Given the description of an element on the screen output the (x, y) to click on. 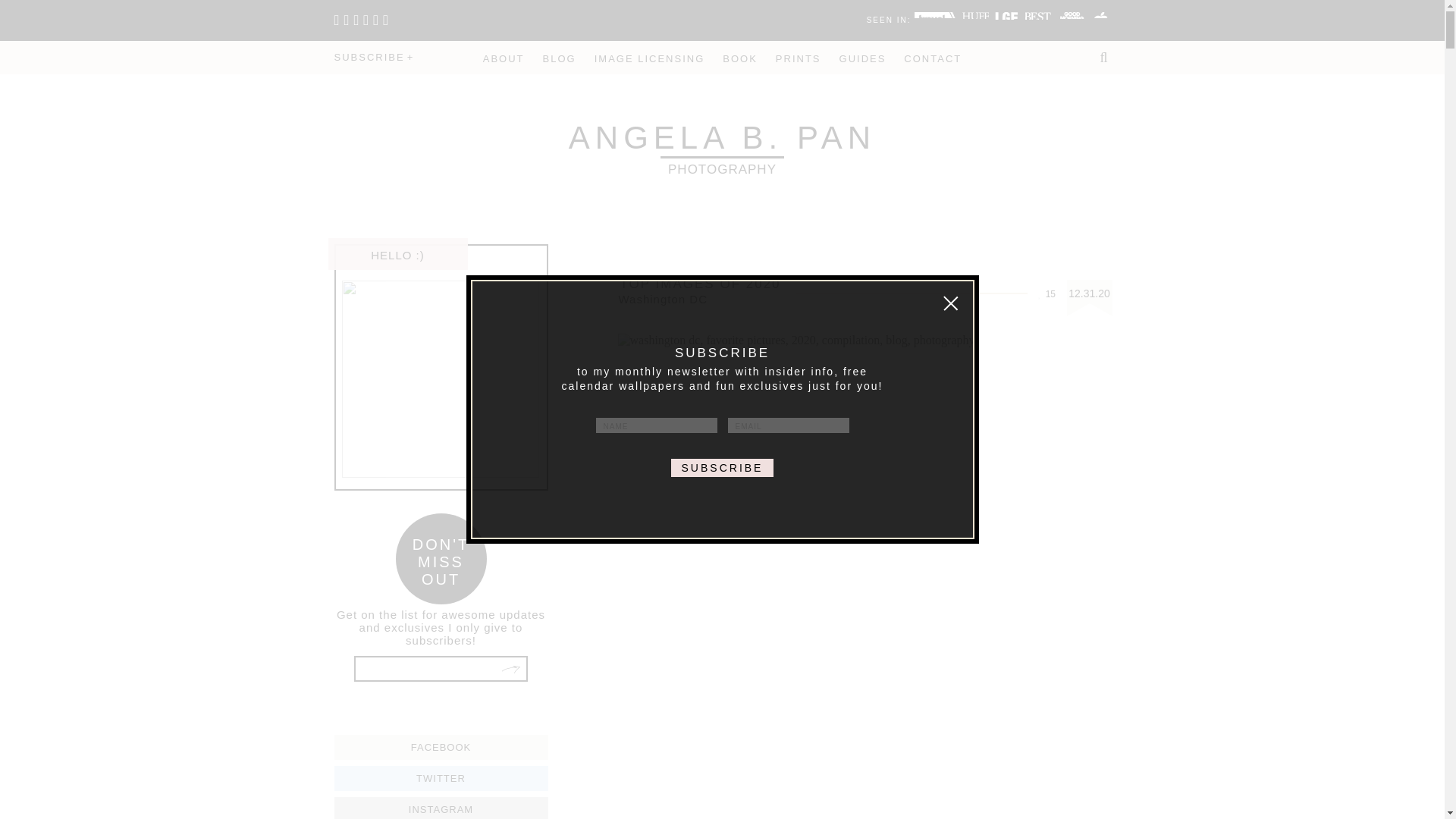
IMAGE LICENSING (649, 58)
BLOG (559, 58)
BOOK (739, 58)
GUIDES (722, 148)
PRINTS (863, 58)
NAME (798, 58)
ABOUT (656, 425)
EMAIL (503, 58)
SUBSCRIBE (788, 425)
SUBSCRIBE (373, 57)
Like this (722, 467)
CONTACT (1045, 294)
